Given the description of an element on the screen output the (x, y) to click on. 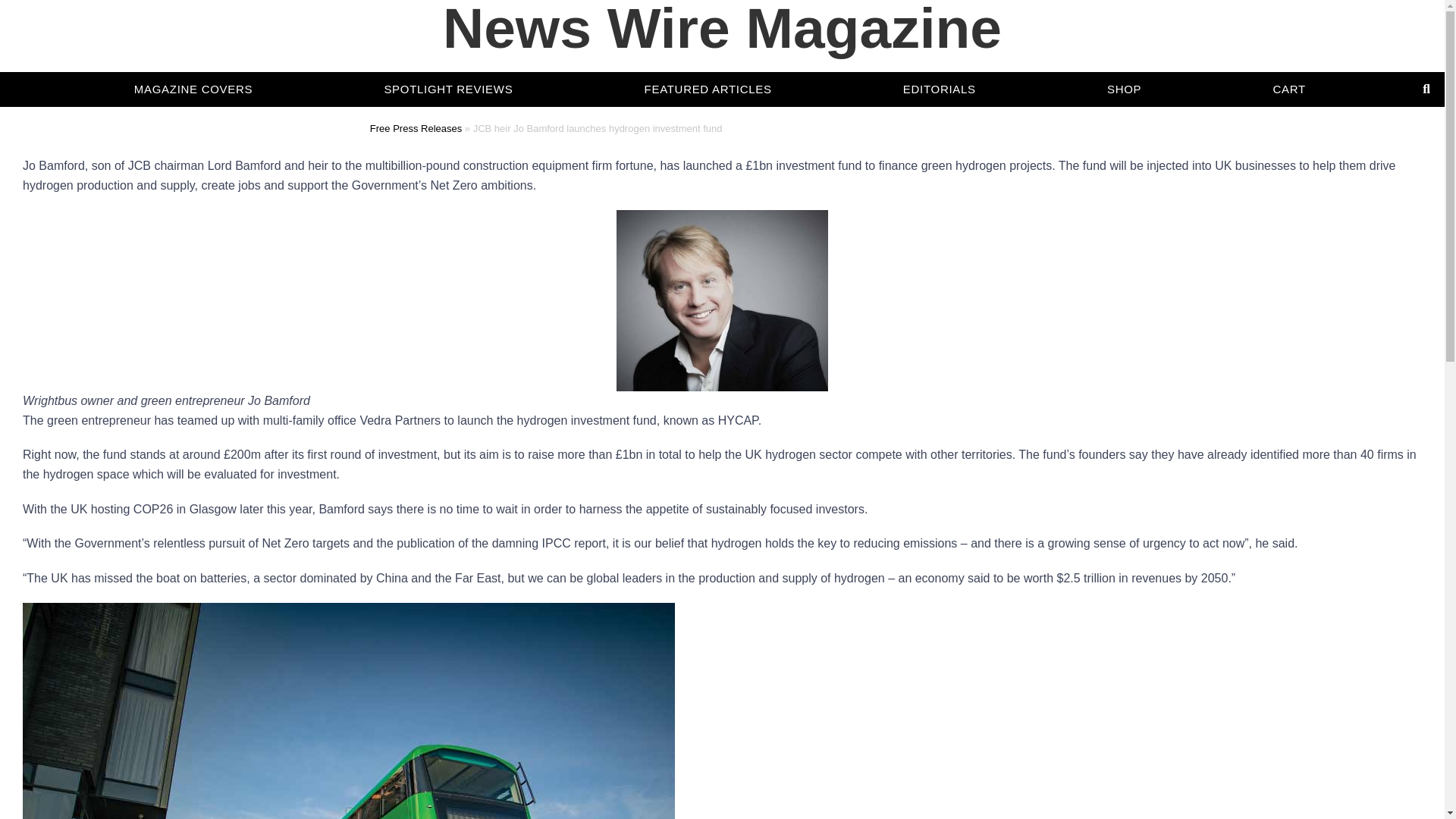
MAGAZINE COVERS (192, 58)
Free Press Releases (415, 128)
EDITORIALS (938, 63)
SPOTLIGHT REVIEWS (448, 59)
SHOP (1124, 65)
FEATURED ARTICLES (707, 61)
CART (1289, 67)
JCB heir Jo Bamford launches hydrogen investment fund (721, 300)
News Wire Magazine (721, 81)
